Given the description of an element on the screen output the (x, y) to click on. 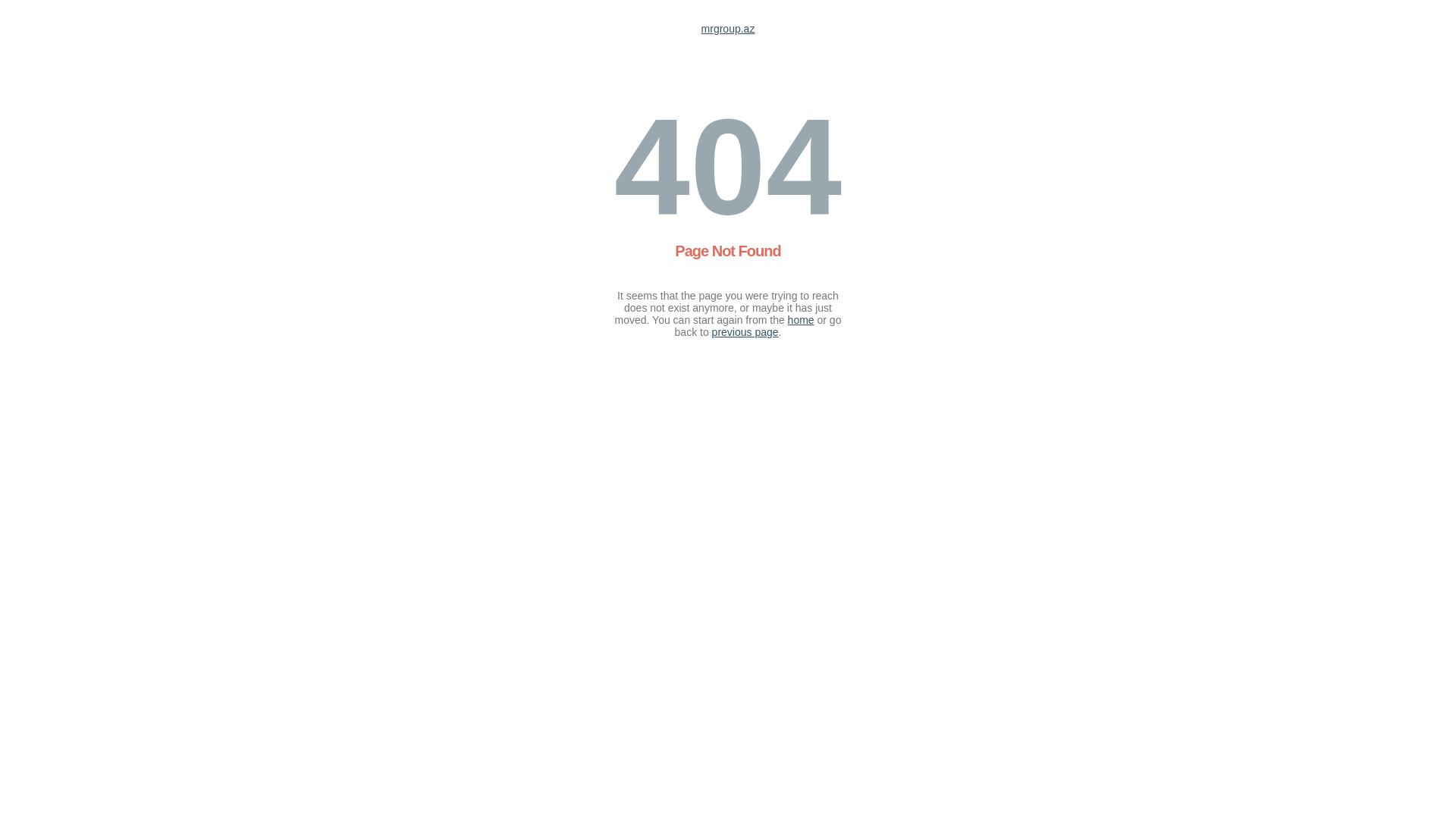
previous page Element type: text (745, 332)
home Element type: text (800, 319)
mrgroup.az Element type: text (728, 28)
